Given the description of an element on the screen output the (x, y) to click on. 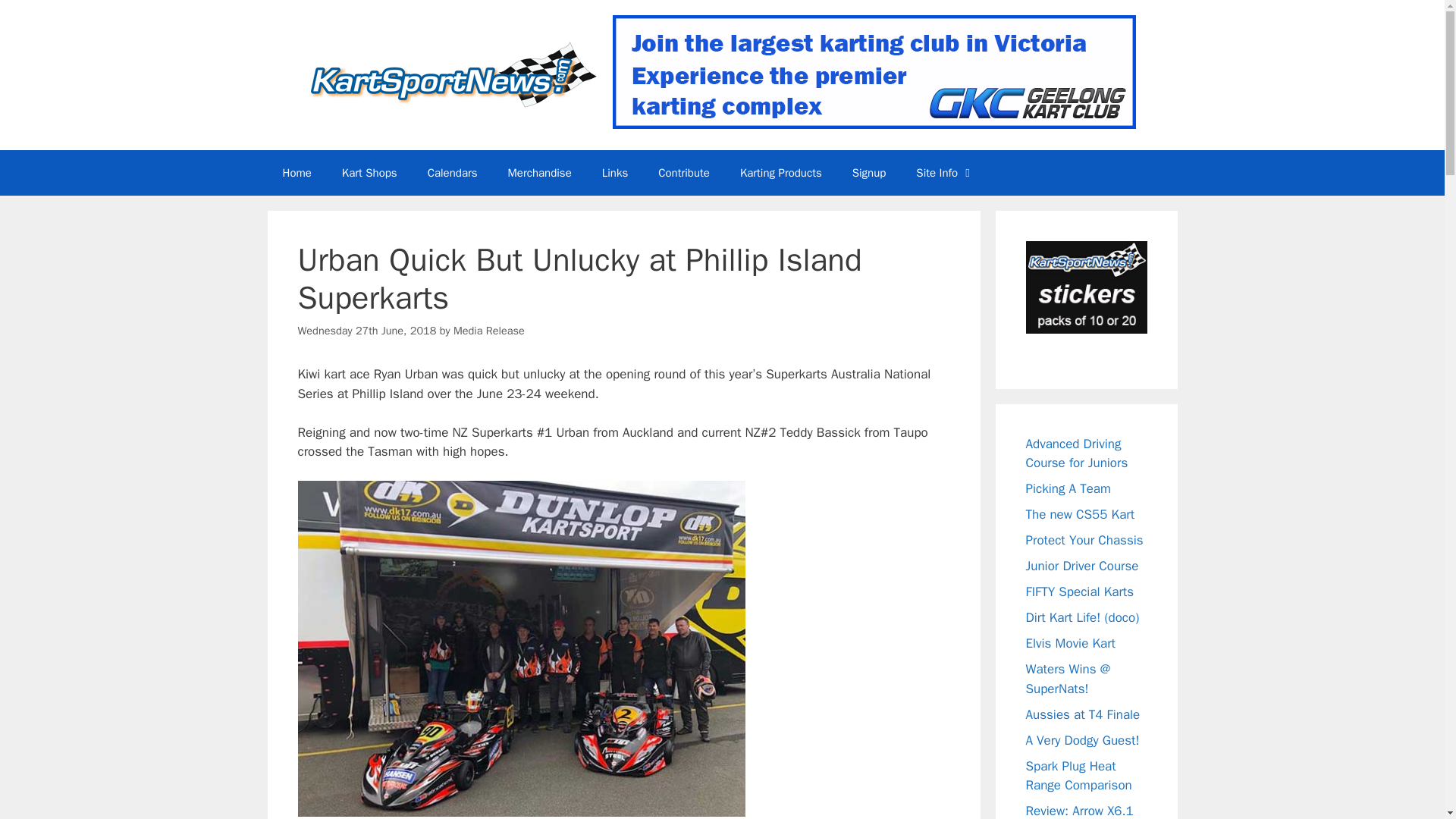
Signup (869, 172)
Picking A Team (1067, 488)
Calendars (452, 172)
Spark Plug Heat Range Comparison (1078, 775)
FIFTY Special Karts (1079, 591)
Aussies at T4 Finale (1082, 714)
Advanced Driving Course for Juniors (1075, 453)
Elvis Movie Kart (1070, 643)
Kart Shops (369, 172)
Home (296, 172)
Contribute (684, 172)
The new CS55 Kart (1079, 514)
Media Release (488, 329)
Merchandise (539, 172)
Karting Products (781, 172)
